Given the description of an element on the screen output the (x, y) to click on. 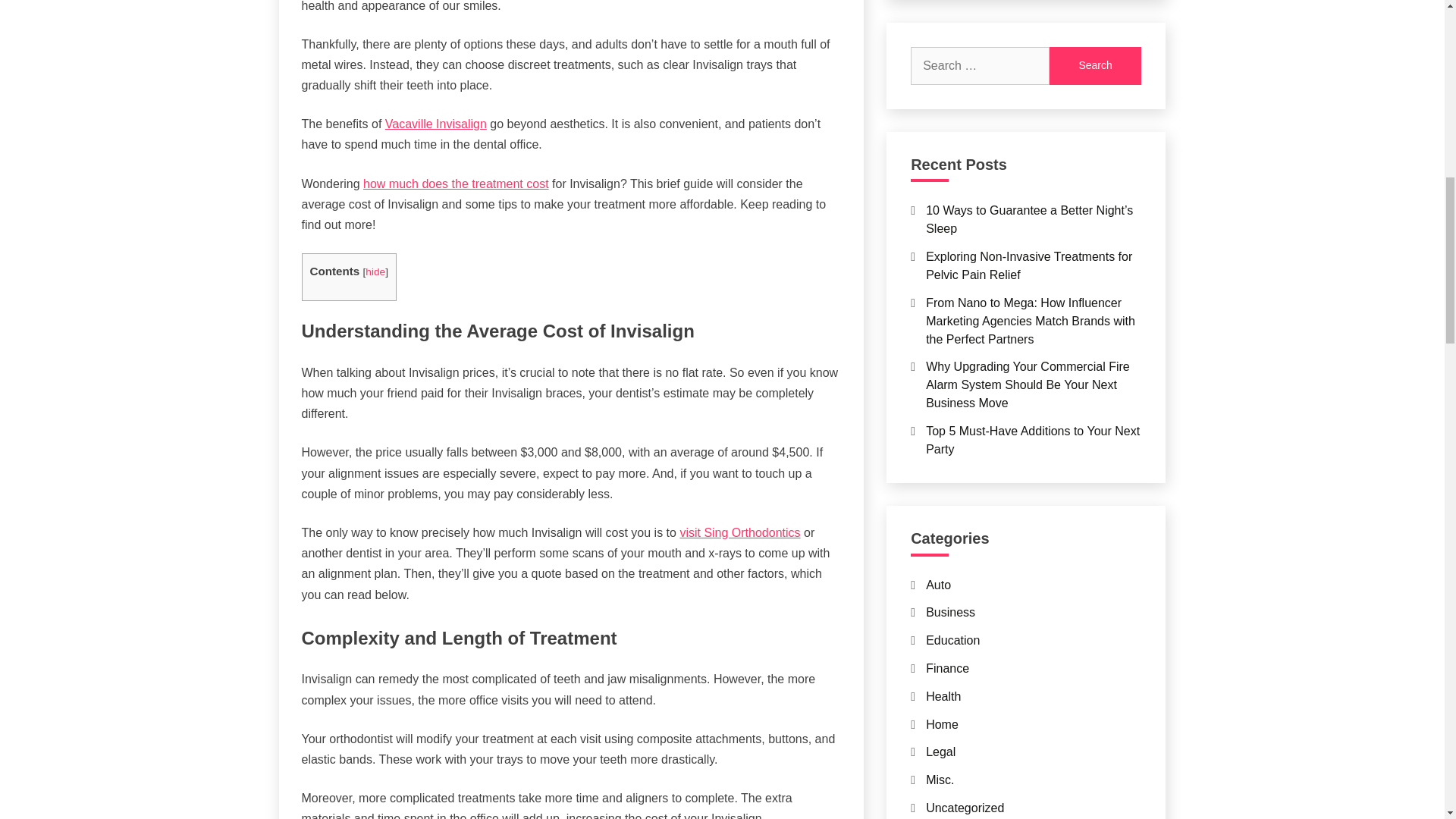
how much does the treatment cost (455, 183)
Search (1095, 65)
visit Sing Orthodontics (739, 532)
Vacaville Invisalign (435, 123)
hide (375, 271)
Search (1095, 65)
